Given the description of an element on the screen output the (x, y) to click on. 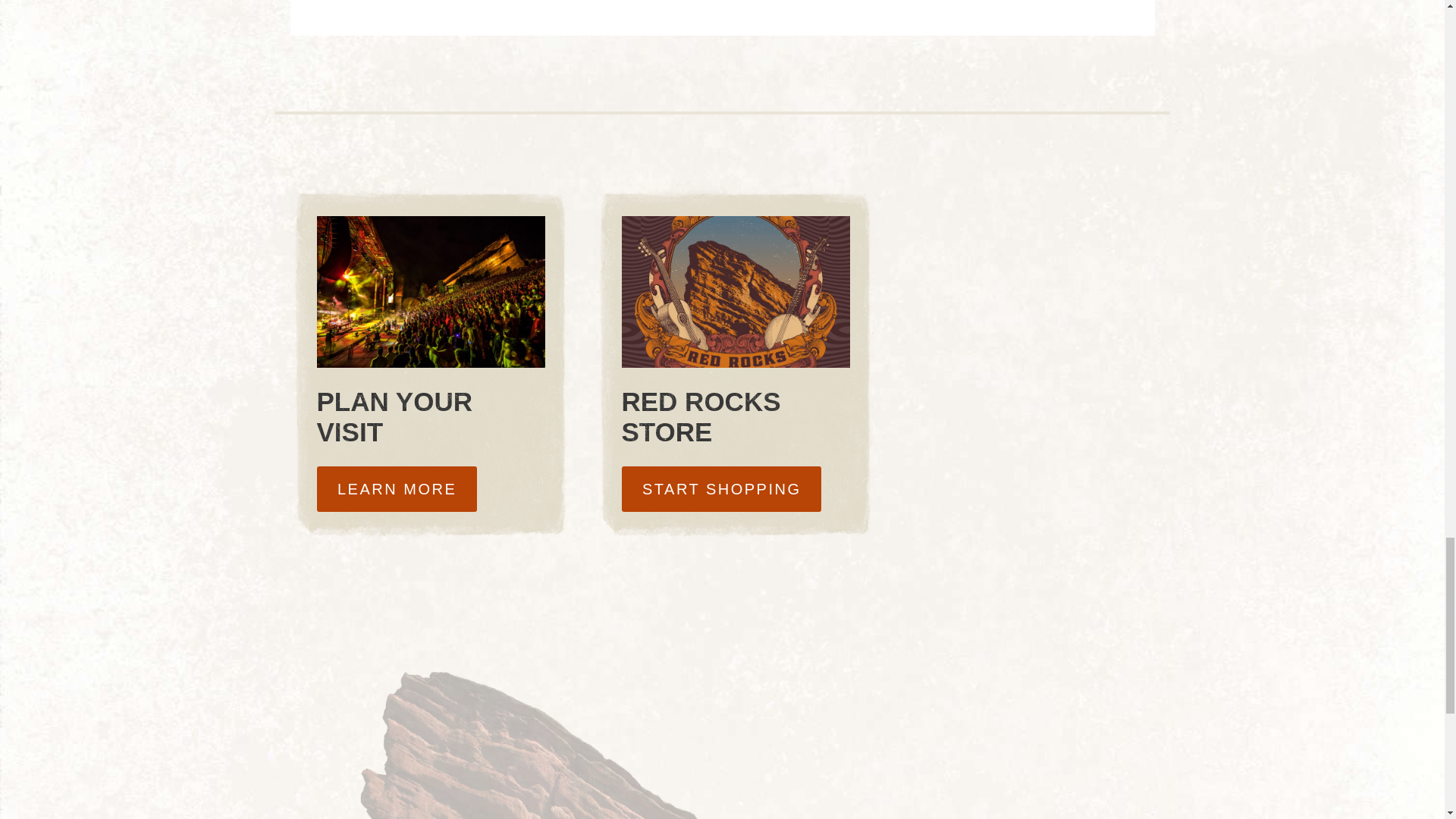
3rd party ad content (1012, 289)
